Given the description of an element on the screen output the (x, y) to click on. 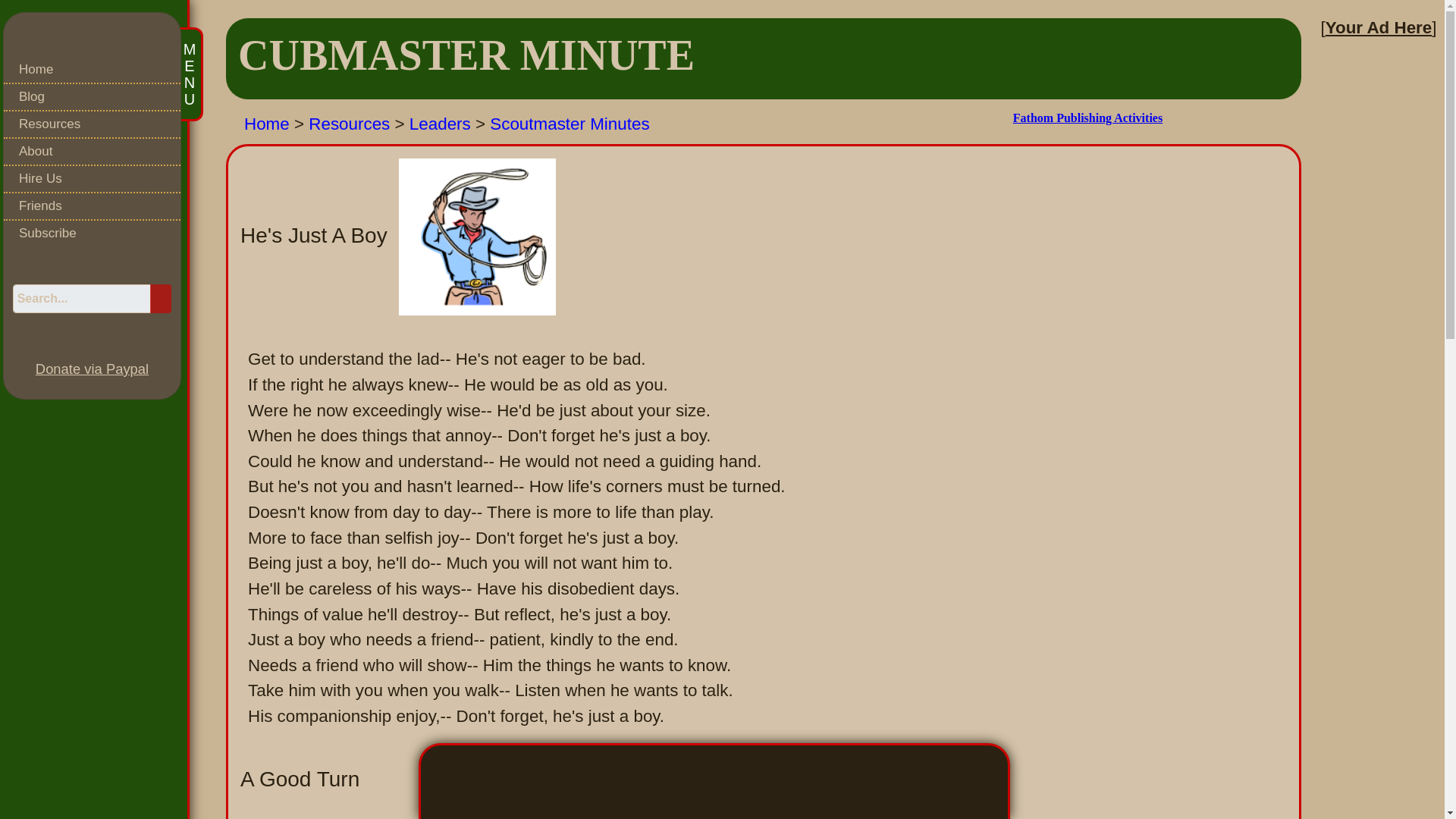
Blog (92, 96)
Resources (92, 124)
donate via PayPal (91, 368)
Home (92, 69)
